Given the description of an element on the screen output the (x, y) to click on. 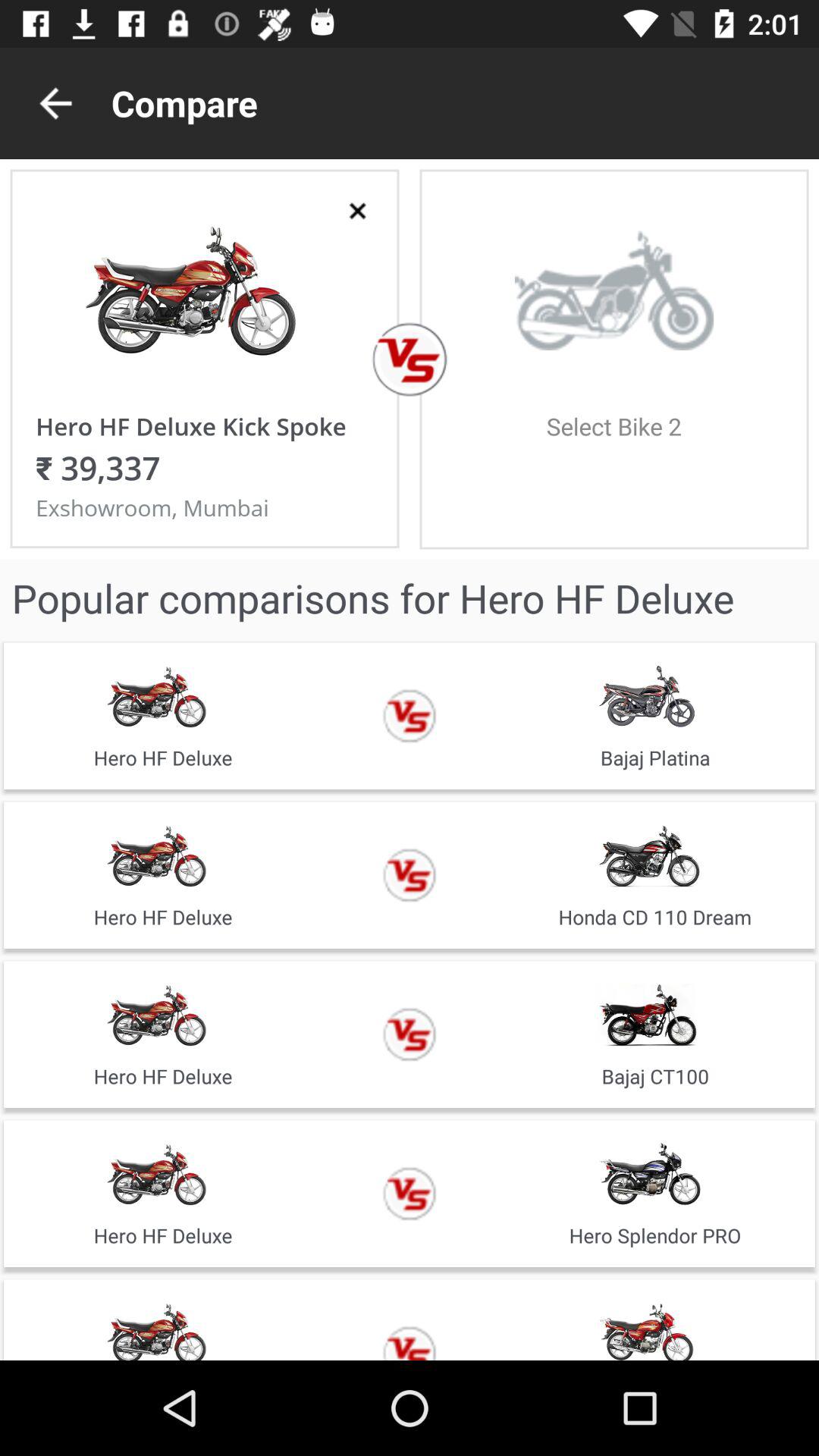
close window (357, 210)
